Given the description of an element on the screen output the (x, y) to click on. 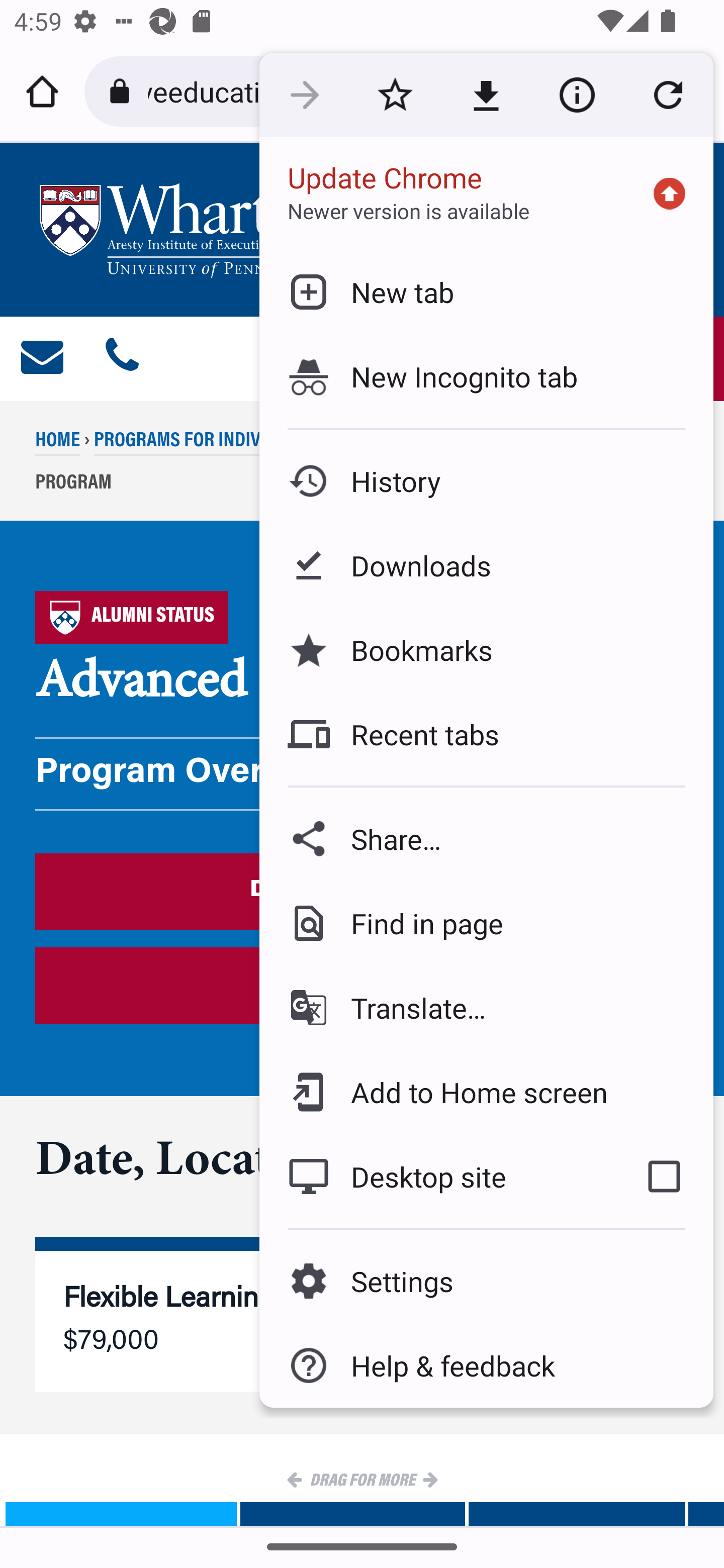
Forward (304, 95)
Bookmark (394, 95)
Download (485, 95)
Page info (576, 95)
Refresh (667, 95)
New tab (486, 291)
New Incognito tab (486, 375)
History (486, 481)
Downloads (486, 565)
Bookmarks (486, 649)
Recent tabs (486, 733)
Share… (486, 838)
Find in page (486, 923)
Translate… (486, 1007)
Add to Home screen (486, 1091)
Desktop site Turn on Request desktop site (436, 1175)
Settings (486, 1280)
Help & feedback (486, 1365)
